Given the description of an element on the screen output the (x, y) to click on. 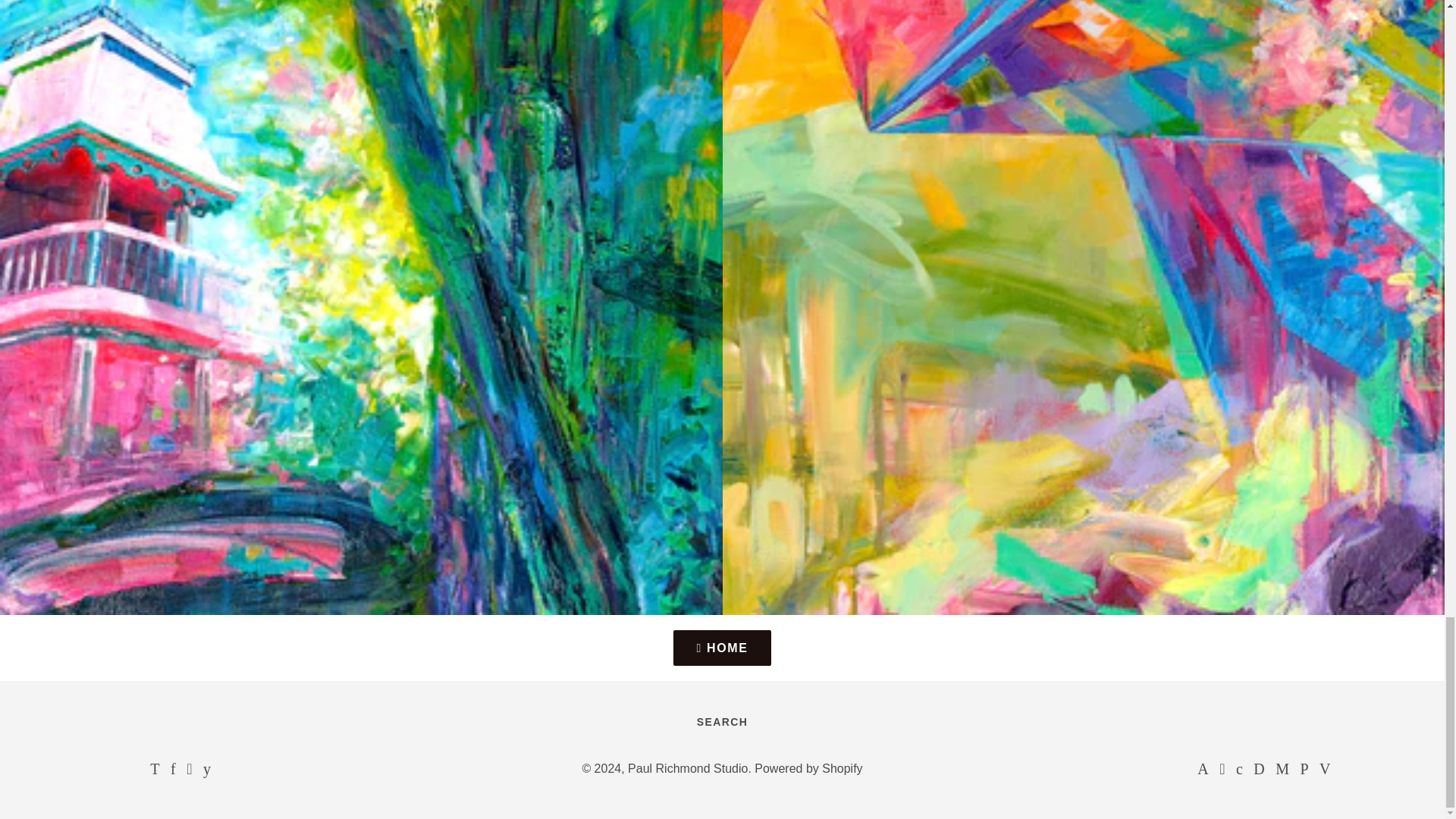
SEARCH (721, 722)
HOME (721, 647)
Paul Richmond Studio (687, 768)
